Given the description of an element on the screen output the (x, y) to click on. 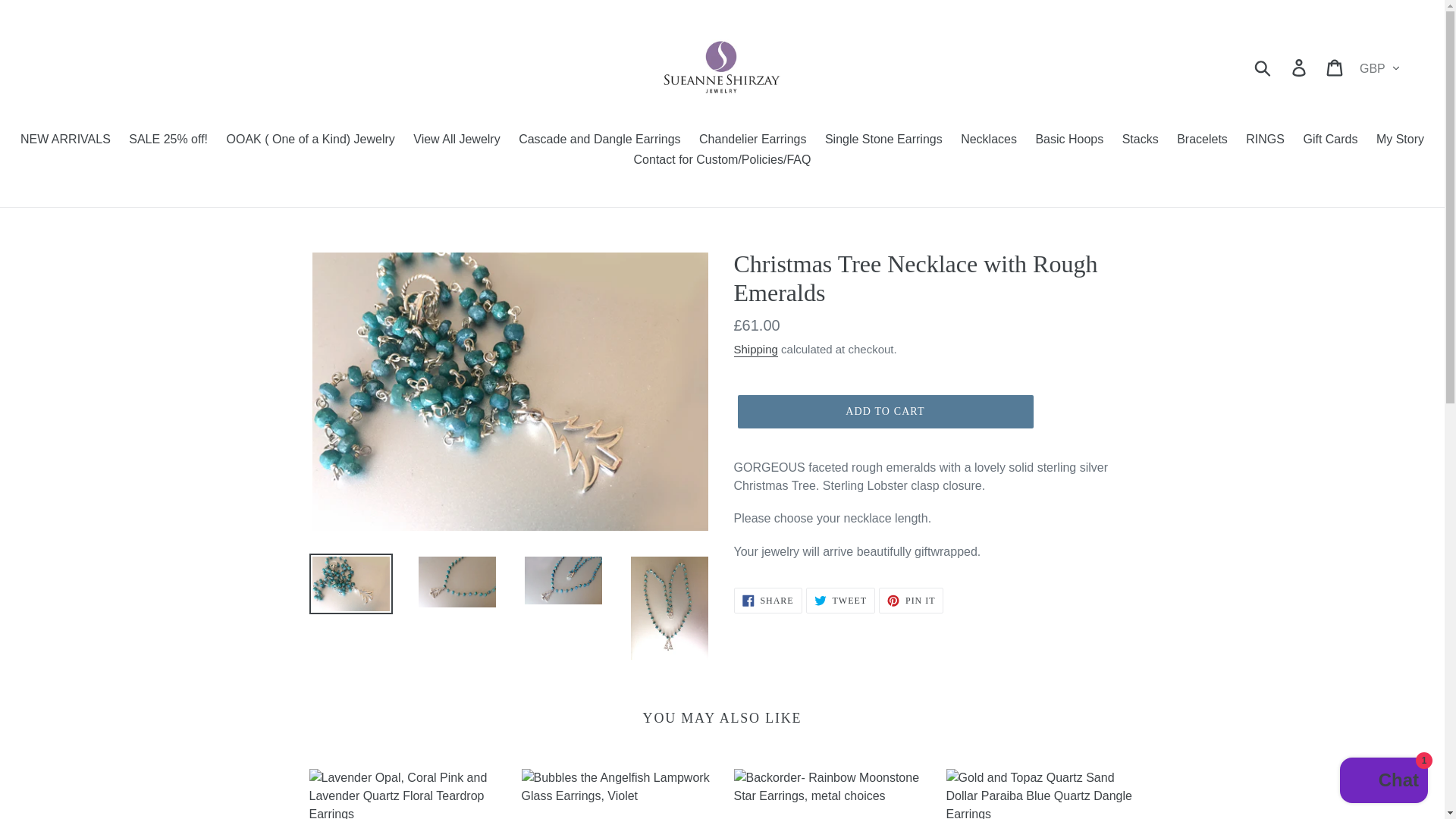
Single Stone Earrings (883, 140)
Necklaces (989, 140)
Gift Cards (1330, 140)
Stacks (1140, 140)
Log in (1299, 66)
Bracelets (1201, 140)
RINGS (1265, 140)
Cascade and Dangle Earrings (599, 140)
Submit (1263, 66)
Cart (1335, 66)
Chandelier Earrings (752, 140)
NEW ARRIVALS (65, 140)
View All Jewelry (456, 140)
Basic Hoops (1068, 140)
Shopify online store chat (1383, 781)
